Given the description of an element on the screen output the (x, y) to click on. 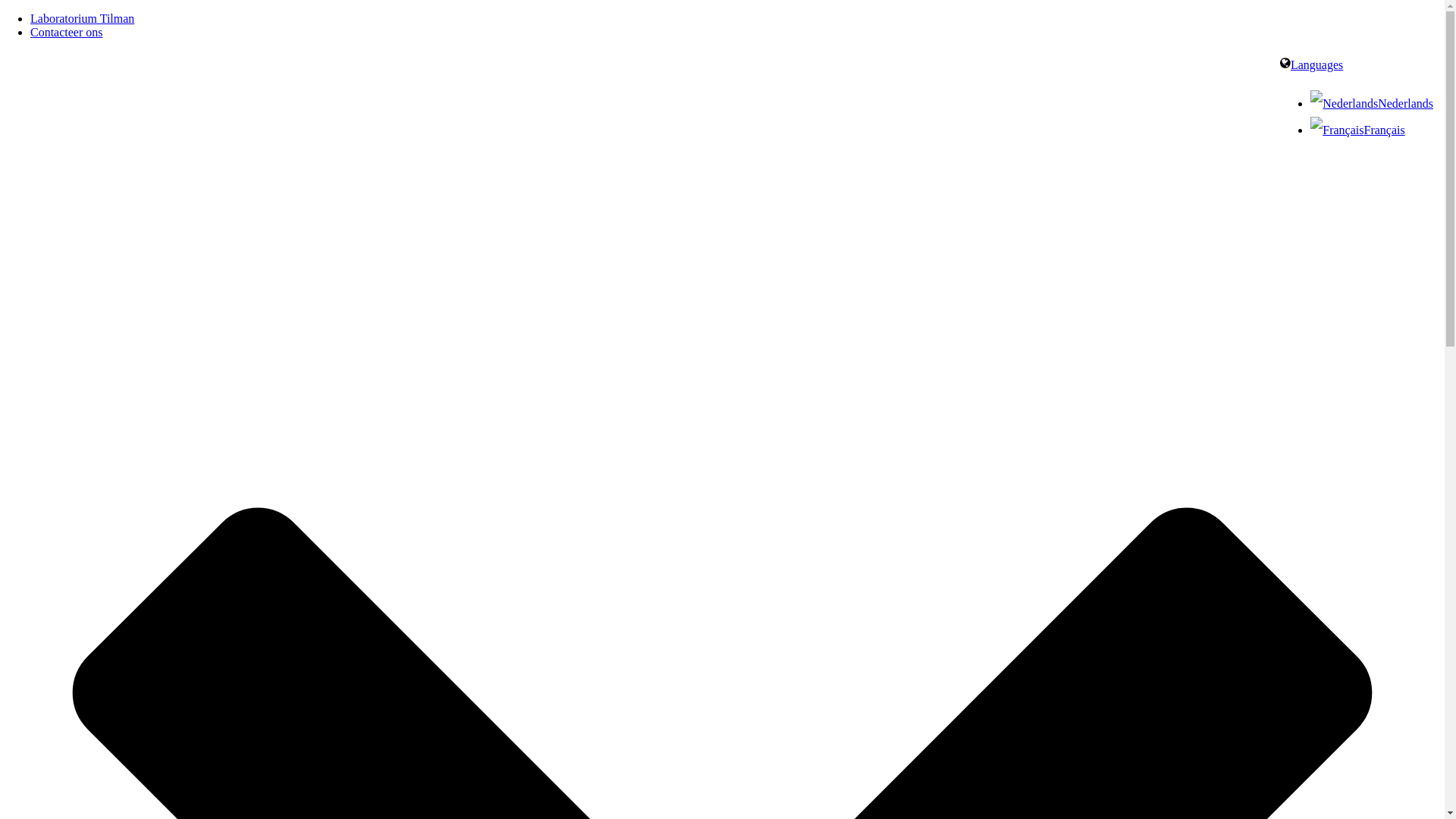
Laboratorium Tilman Element type: text (82, 18)
Nederlands Element type: hover (1343, 103)
Languages Element type: text (1311, 64)
Nederlands Element type: text (1371, 103)
Contacteer ons Element type: text (66, 31)
